Given the description of an element on the screen output the (x, y) to click on. 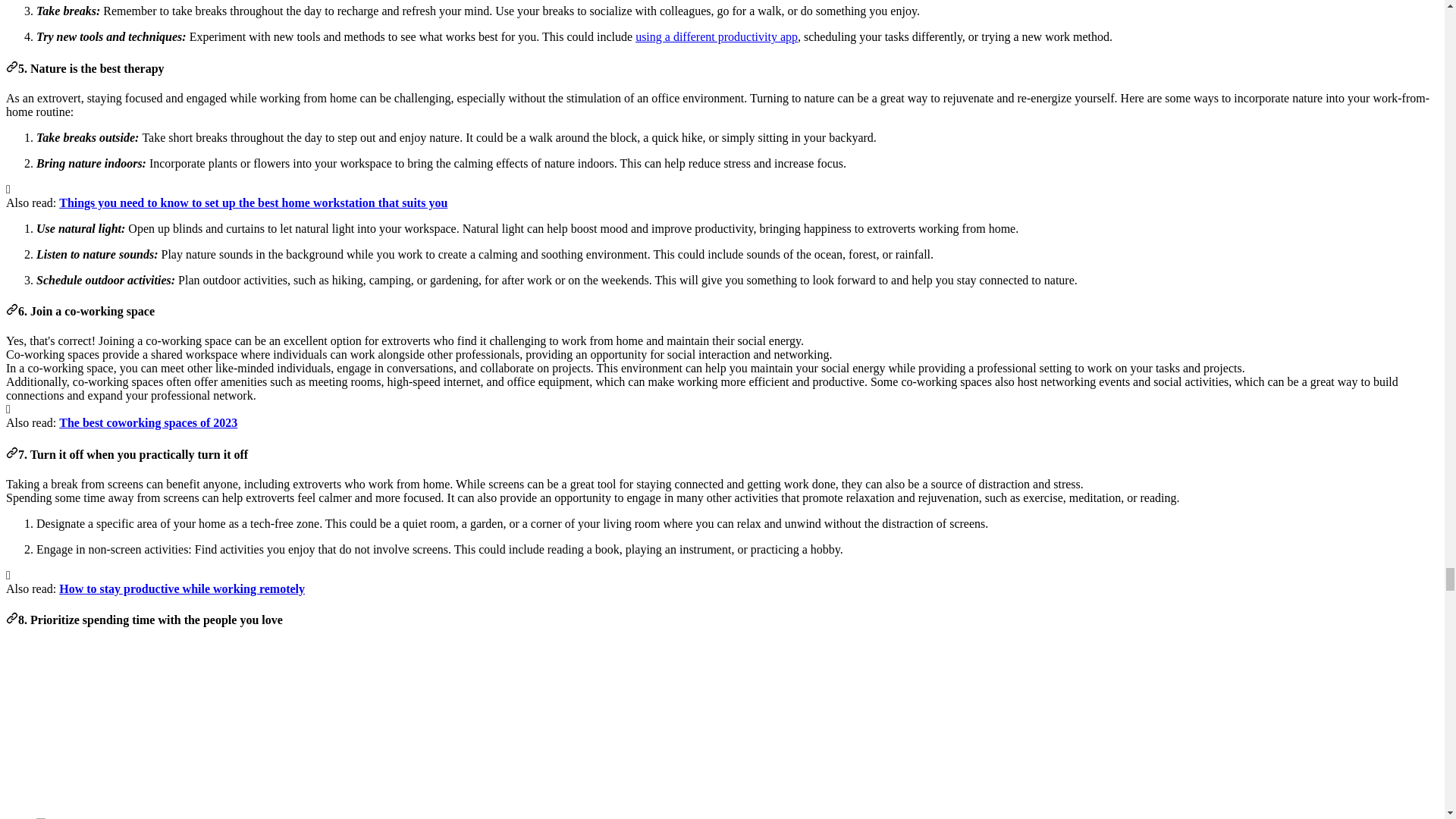
8. Prioritize spending time with the people you love (11, 619)
7. Turn it off when you practically turn it off (11, 454)
6. Join a co-working space (11, 310)
5. Nature is the best therapy (11, 68)
